Given the description of an element on the screen output the (x, y) to click on. 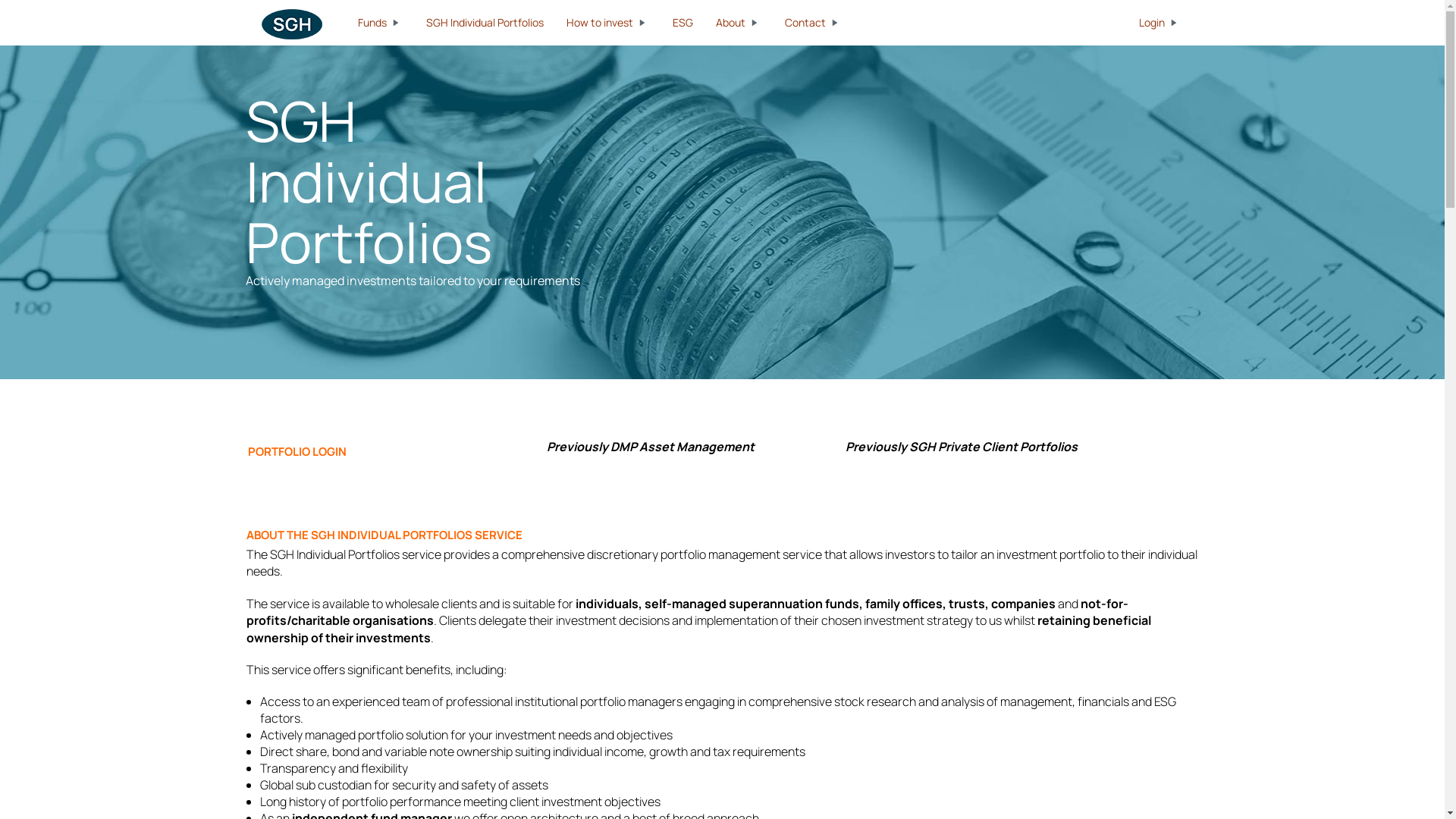
Contact Element type: text (813, 22)
About Element type: text (737, 22)
SGH Individual Portfolios Element type: text (484, 22)
Login Element type: text (1159, 22)
Funds Element type: text (379, 22)
How to invest Element type: text (608, 22)
Previously SGH Private Client Portfolios Element type: text (961, 446)
Previously DMP Asset Management Element type: text (650, 446)
ESG Element type: text (682, 22)
